Given the description of an element on the screen output the (x, y) to click on. 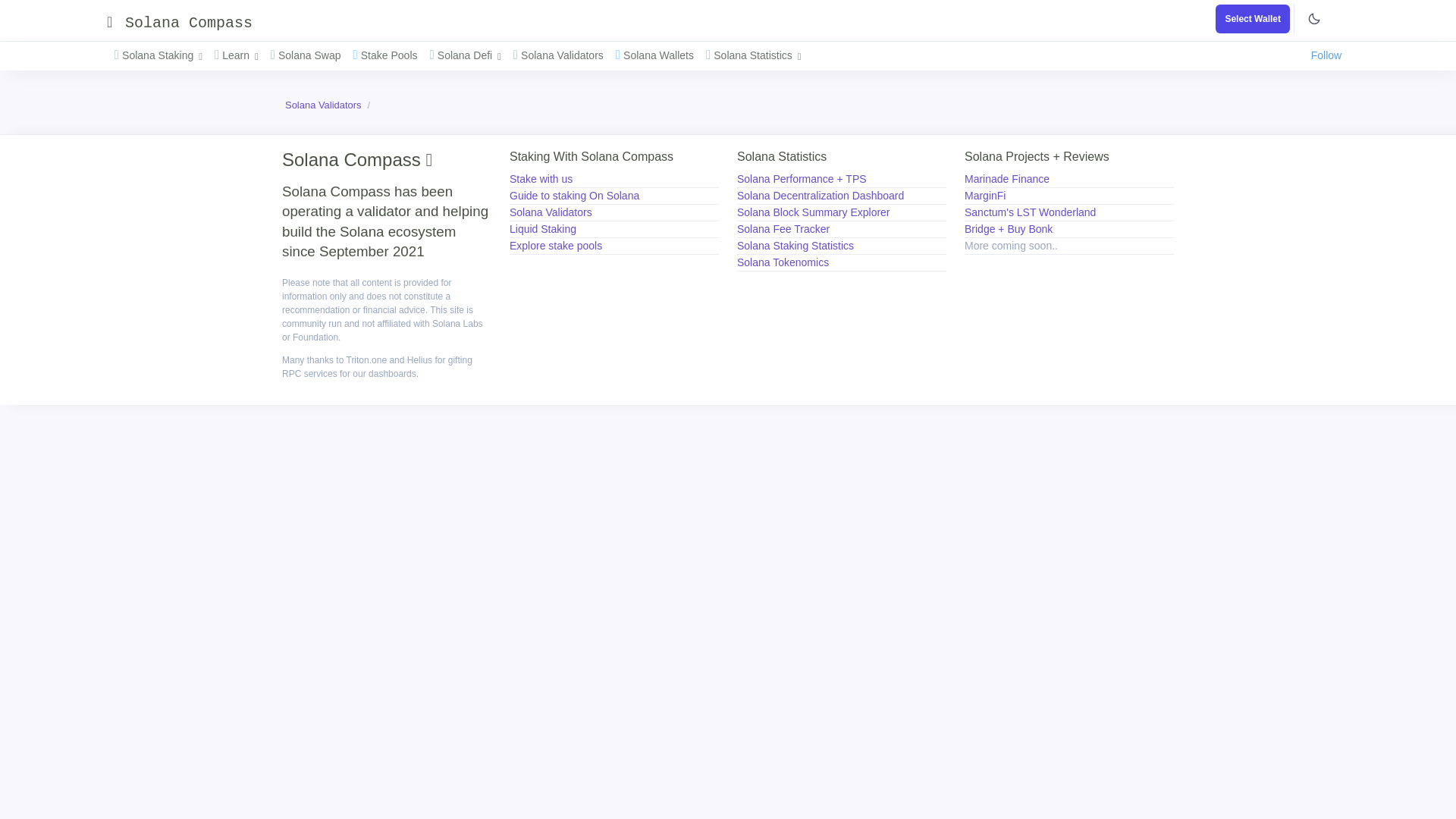
Guide to staking On Solana (574, 195)
Solana Swap (310, 55)
Stake with us (540, 178)
Stake Pools (389, 55)
Solana Defi (469, 55)
Follow (1325, 55)
Solana Staking (163, 55)
Liquid Staking (542, 228)
Solana Validators (550, 212)
Select Wallet (1252, 18)
Solana Statistics (757, 55)
Learn (240, 55)
Solana Validators (562, 55)
Solana Validators (323, 104)
Solana Wallets (659, 55)
